Given the description of an element on the screen output the (x, y) to click on. 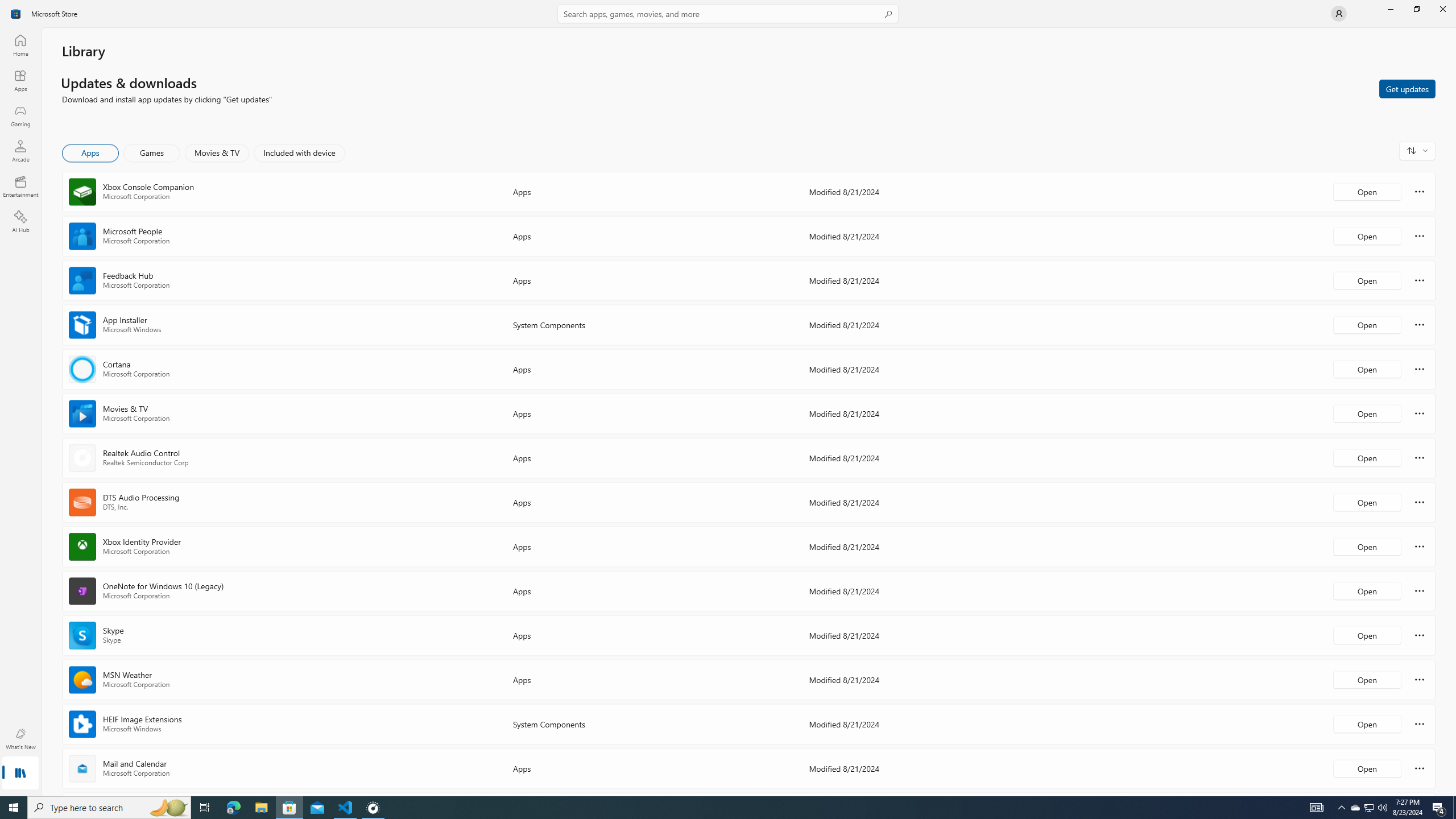
Included with device (299, 153)
Search (727, 13)
Sort and filter (1417, 149)
Open (1366, 768)
More options (1419, 768)
